Given the description of an element on the screen output the (x, y) to click on. 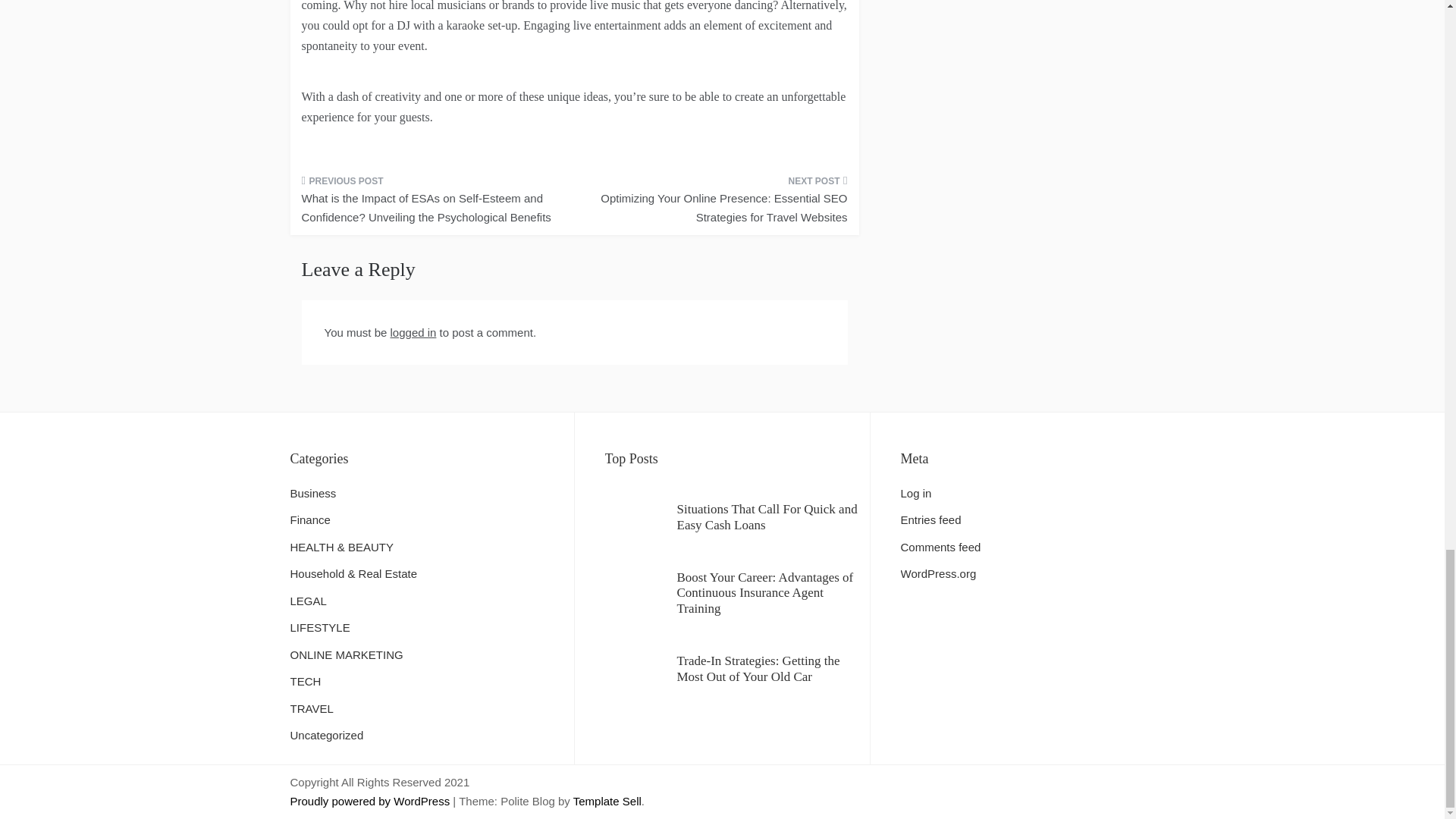
logged in (413, 332)
